Given the description of an element on the screen output the (x, y) to click on. 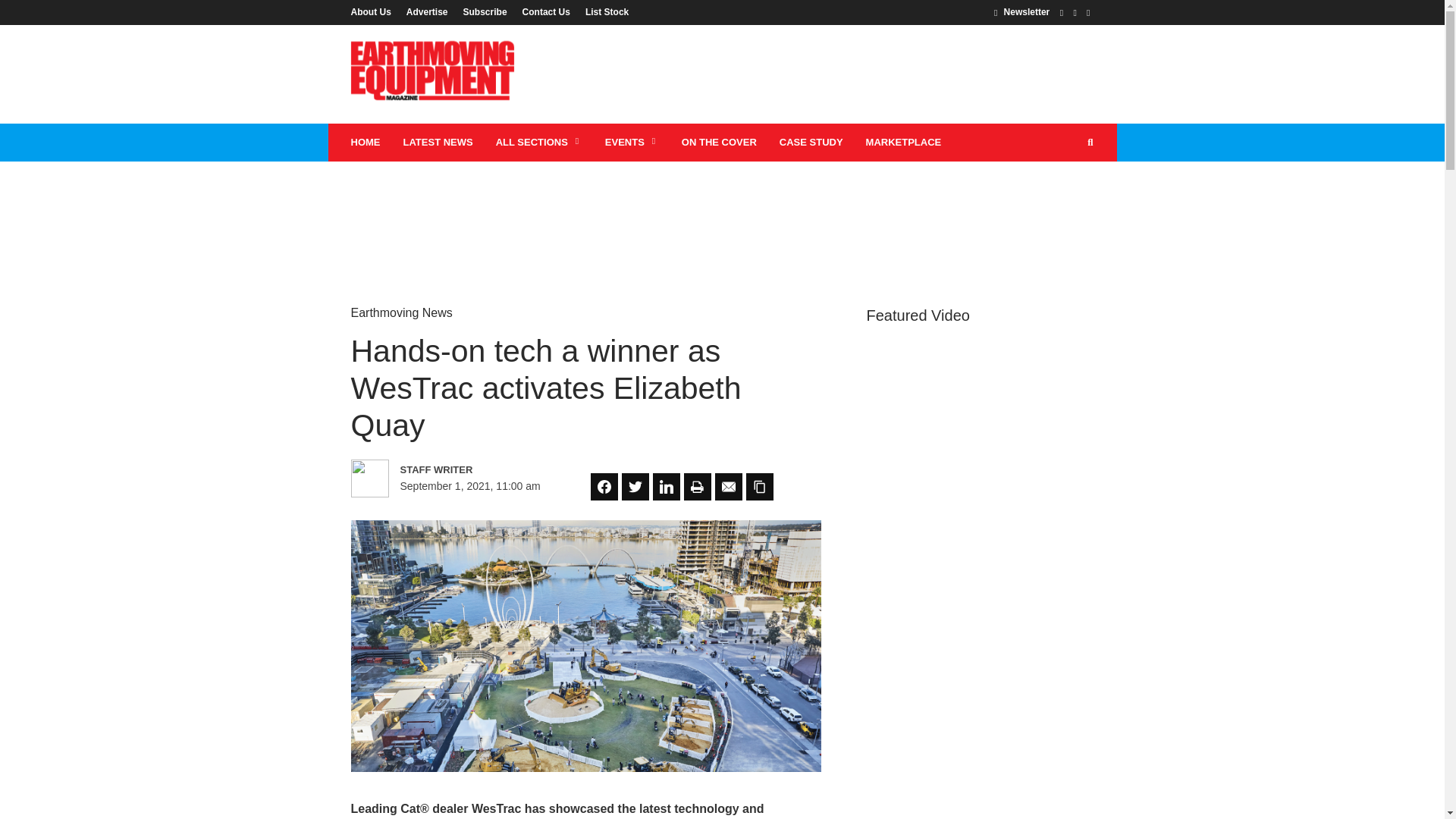
Share on Facebook (604, 486)
Share on Copy Link (759, 486)
Share on Twitter (635, 486)
Newsletter (1021, 11)
ALL SECTIONS (539, 142)
Subscribe (485, 11)
LATEST NEWS (437, 142)
Share on LinkedIn (665, 486)
Advertise (426, 11)
List Stock (603, 11)
HOME (365, 142)
3rd party ad content (721, 210)
3rd party ad content (817, 74)
Share on Print (697, 486)
Share on Email (728, 486)
